Given the description of an element on the screen output the (x, y) to click on. 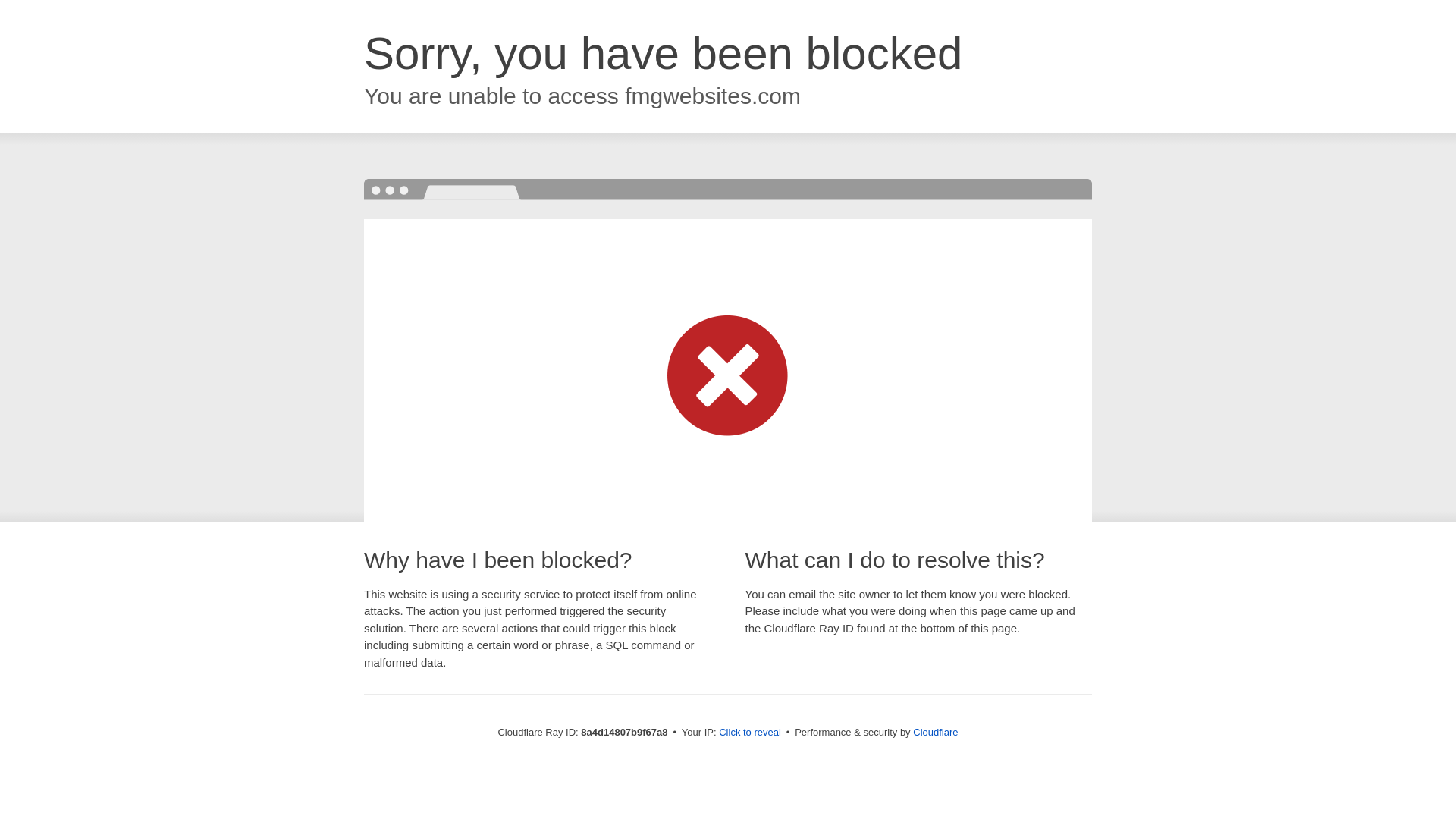
Click to reveal (749, 732)
Cloudflare (935, 731)
